Given the description of an element on the screen output the (x, y) to click on. 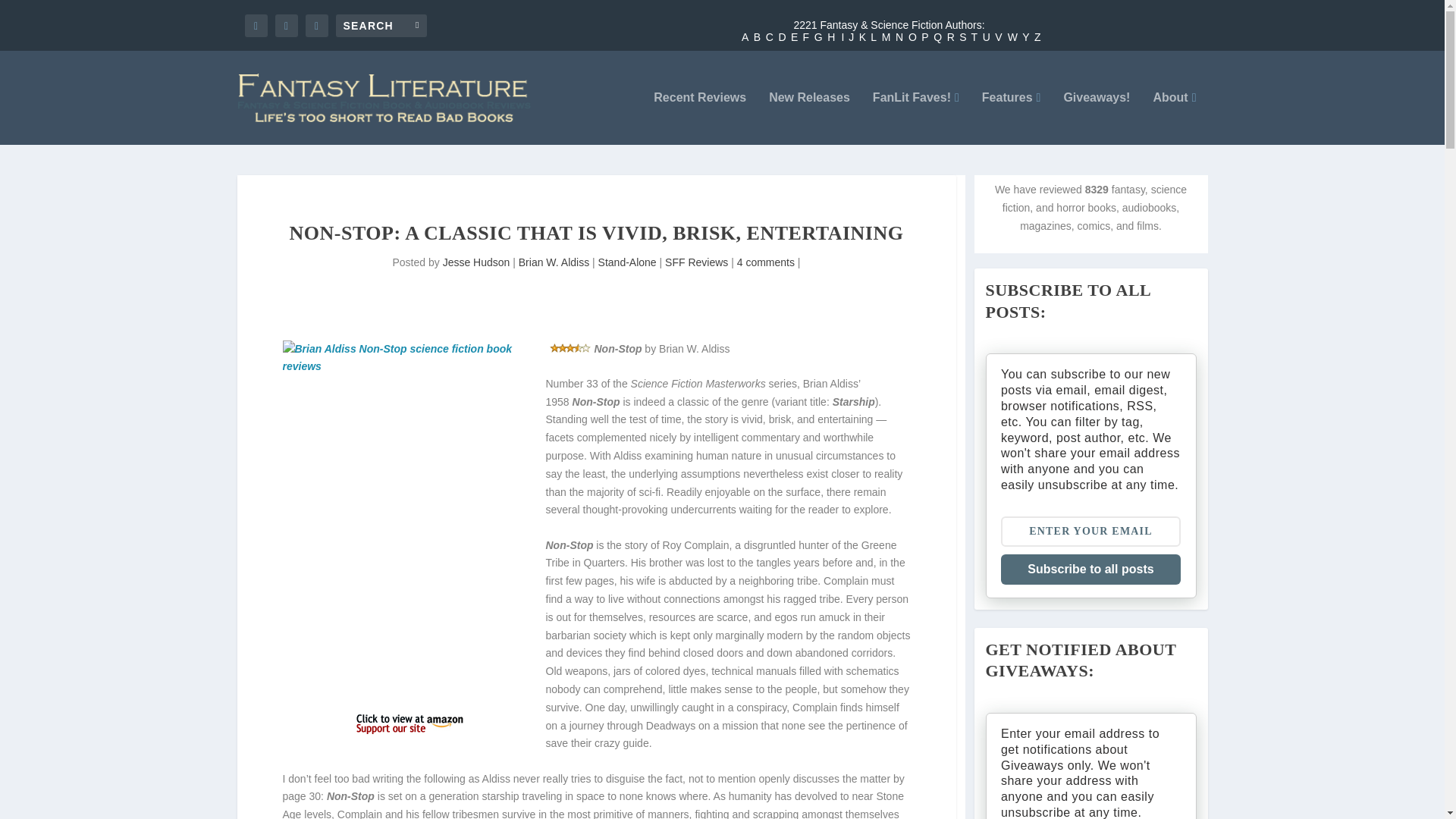
Search for: (380, 24)
FanLit Faves! (915, 117)
Posts by Jesse Hudson (476, 262)
